Given the description of an element on the screen output the (x, y) to click on. 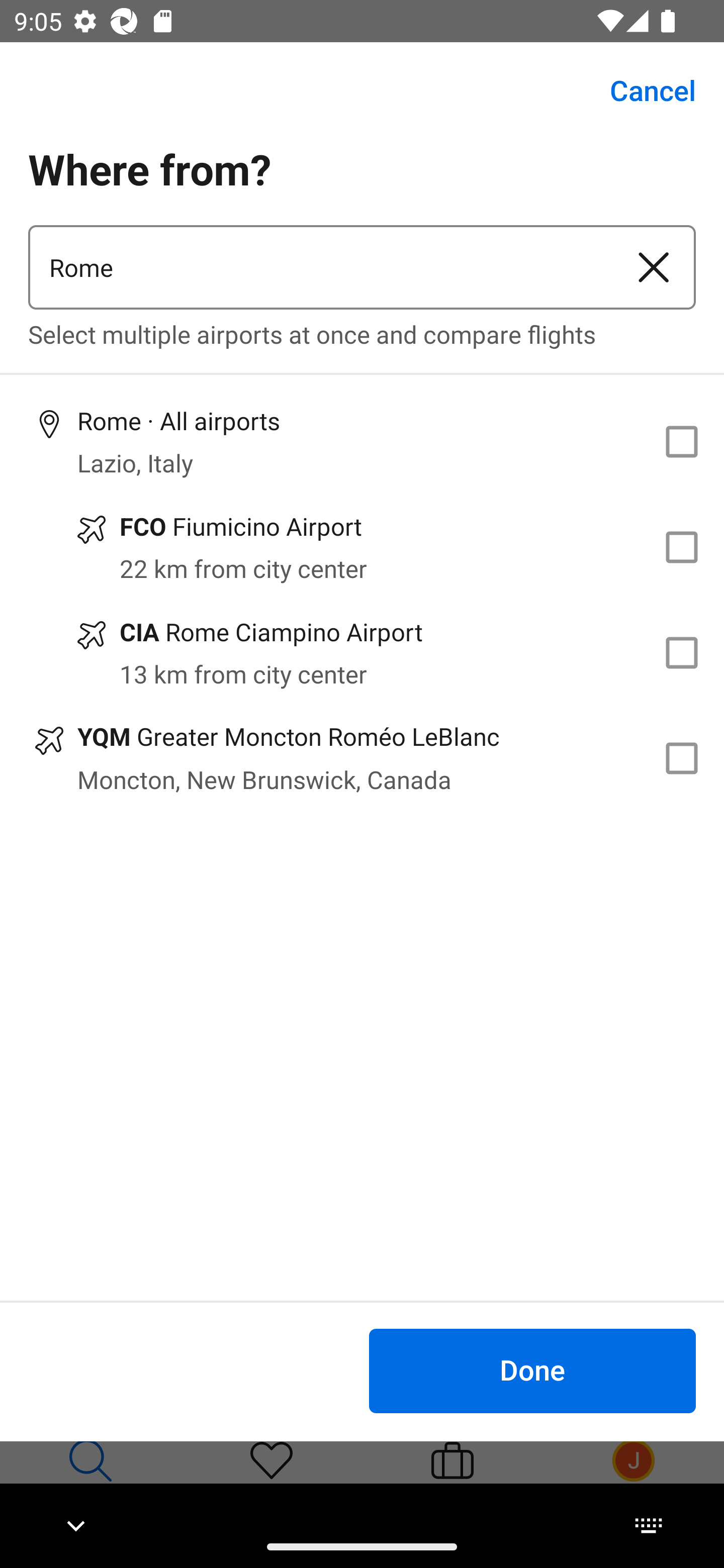
Cancel (641, 90)
Rome (319, 266)
Clear airport or city (653, 266)
Rome · All airports Lazio, Italy (362, 440)
FCO Fiumicino Airport 22 km from city center (362, 547)
CIA Rome Ciampino Airport 13 km from city center (362, 652)
Done (532, 1370)
